Given the description of an element on the screen output the (x, y) to click on. 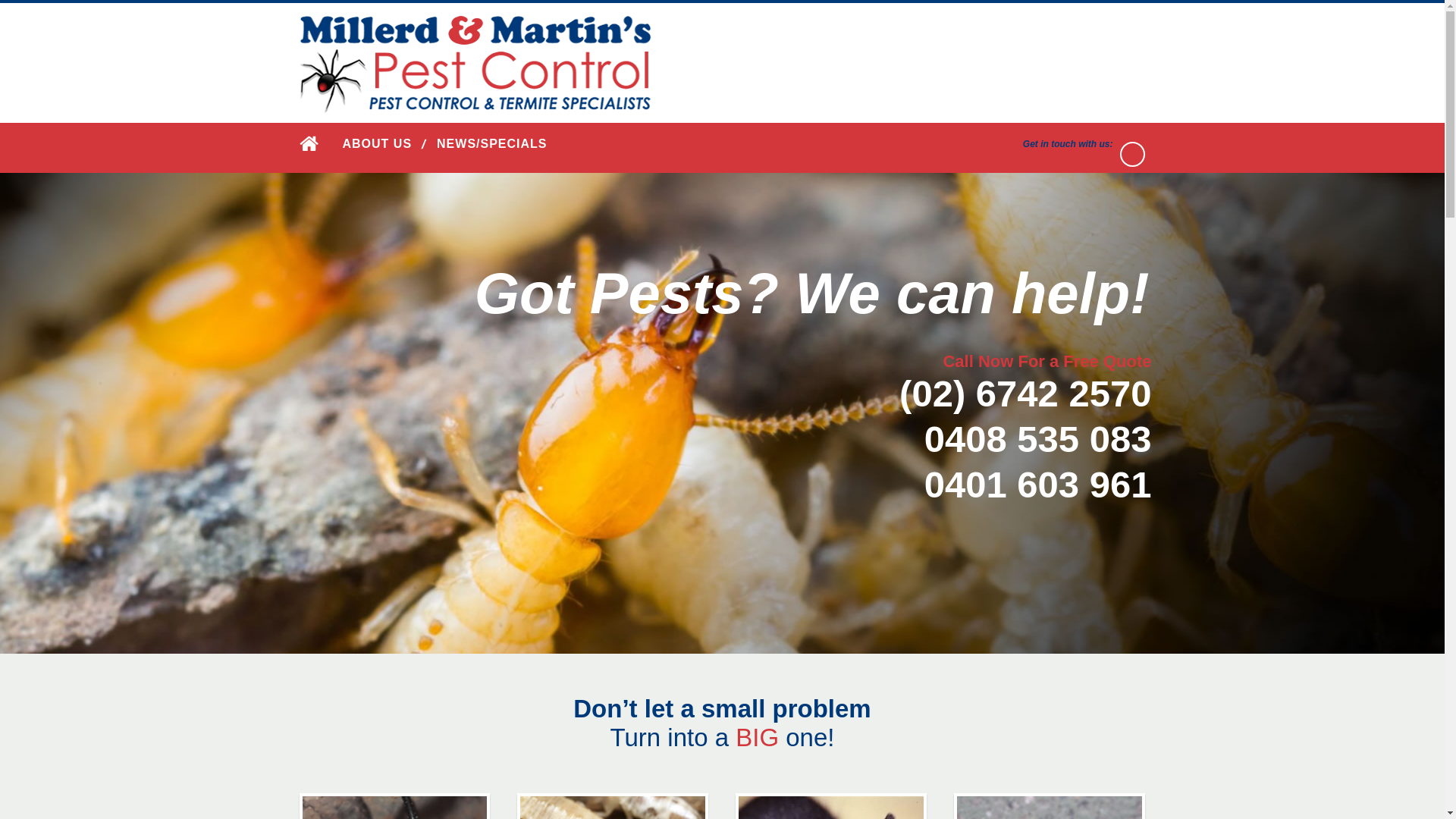
ABOUT US Element type: text (377, 143)
mail Element type: text (1132, 153)
NEWS/SPECIALS Element type: text (491, 143)
HOME Element type: text (309, 142)
